Given the description of an element on the screen output the (x, y) to click on. 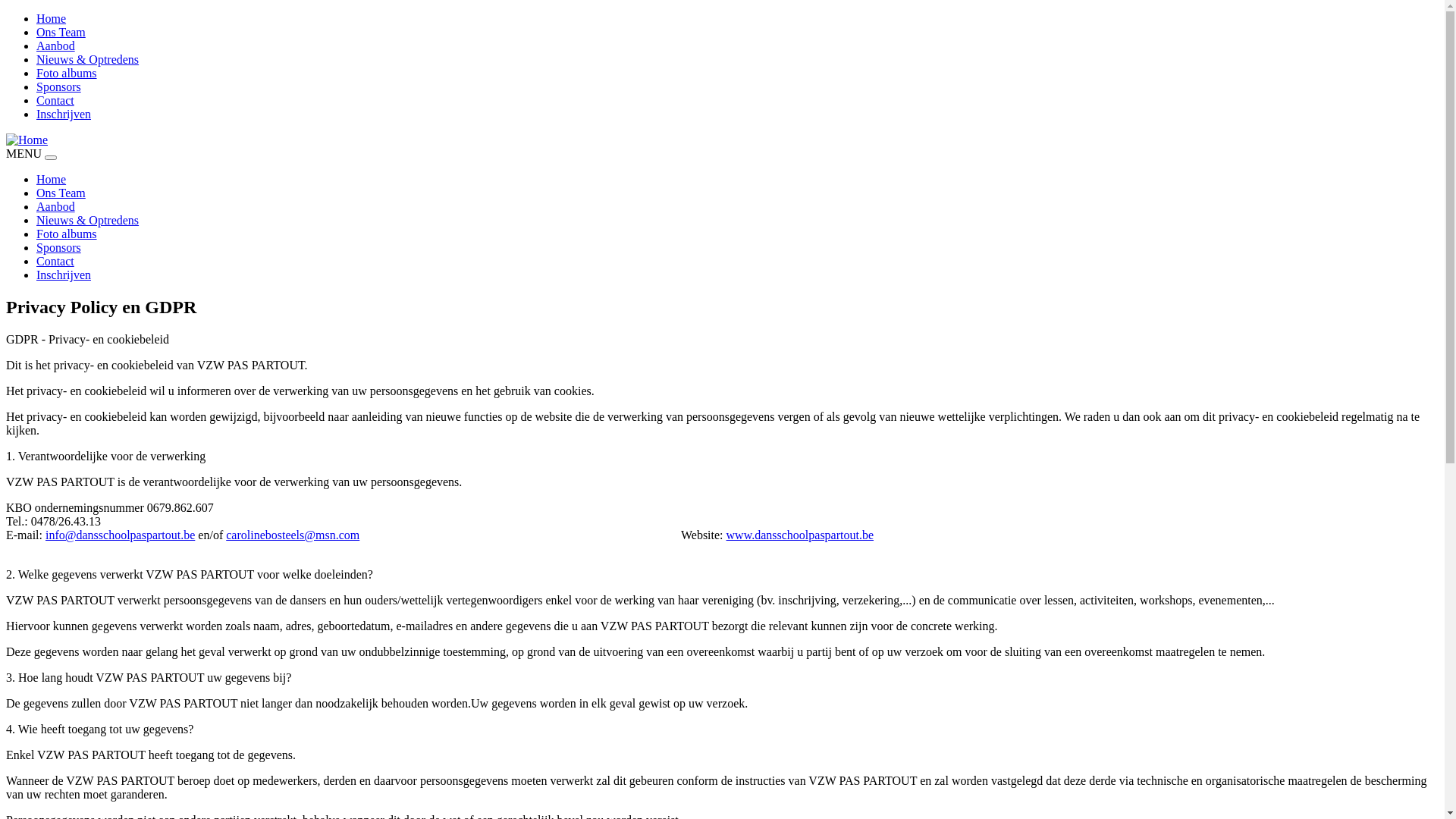
Home Element type: text (50, 178)
Contact Element type: text (55, 100)
Home Element type: text (50, 18)
Contact Element type: text (55, 260)
carolinebosteels@msn.com Element type: text (292, 534)
Aanbod Element type: text (55, 206)
www.dansschoolpaspartout.be Element type: text (799, 534)
Aanbod Element type: text (55, 45)
Ons Team Element type: text (60, 192)
Home Element type: hover (26, 139)
Inschrijven Element type: text (63, 113)
Nieuws & Optredens Element type: text (87, 59)
Inschrijven Element type: text (63, 274)
Foto albums Element type: text (66, 72)
Sponsors Element type: text (58, 86)
Ons Team Element type: text (60, 31)
info@dansschoolpaspartout.be Element type: text (119, 534)
Sponsors Element type: text (58, 247)
Foto albums Element type: text (66, 233)
Nieuws & Optredens Element type: text (87, 219)
